Given the description of an element on the screen output the (x, y) to click on. 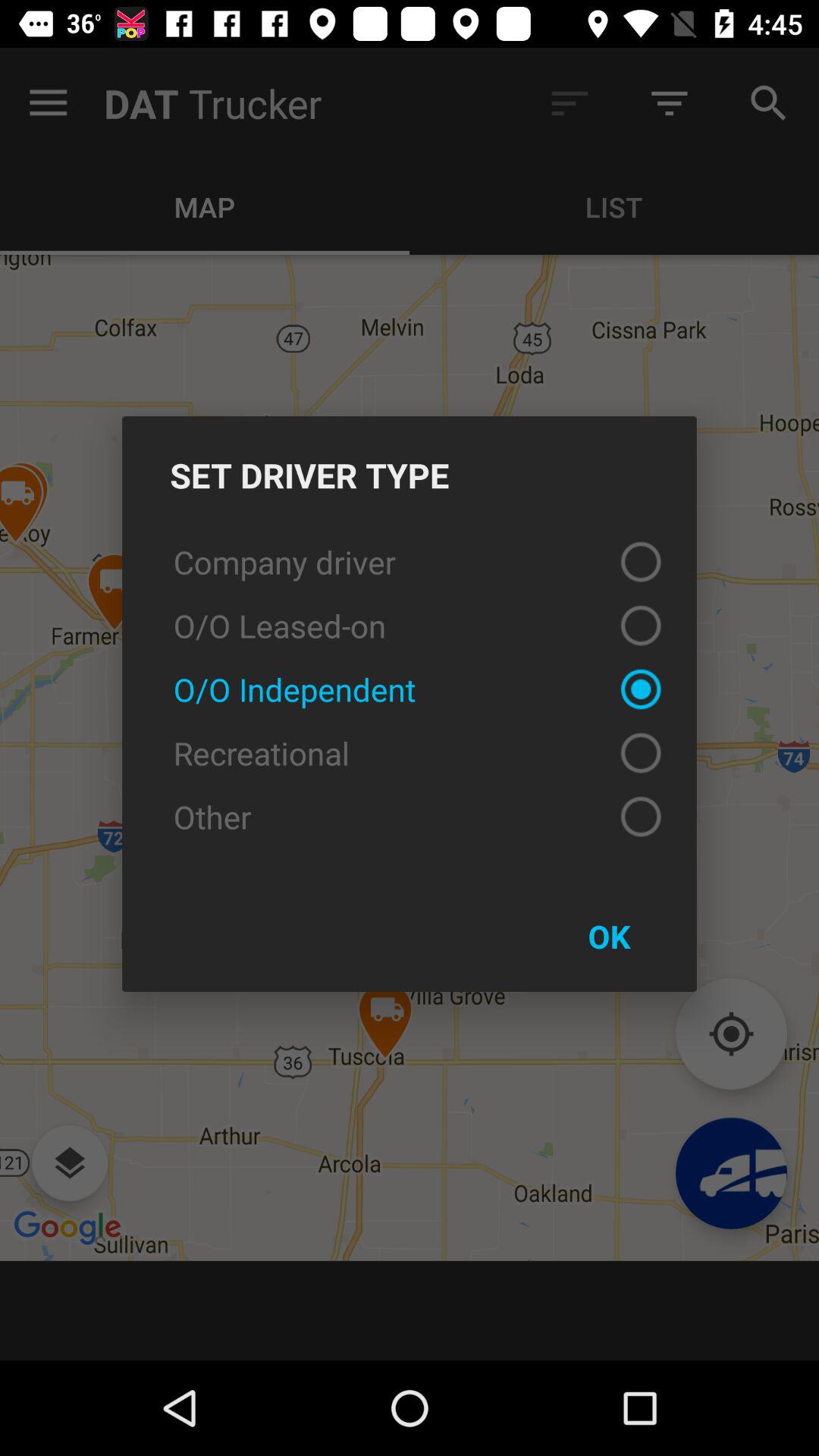
turn off recreational icon (409, 752)
